Given the description of an element on the screen output the (x, y) to click on. 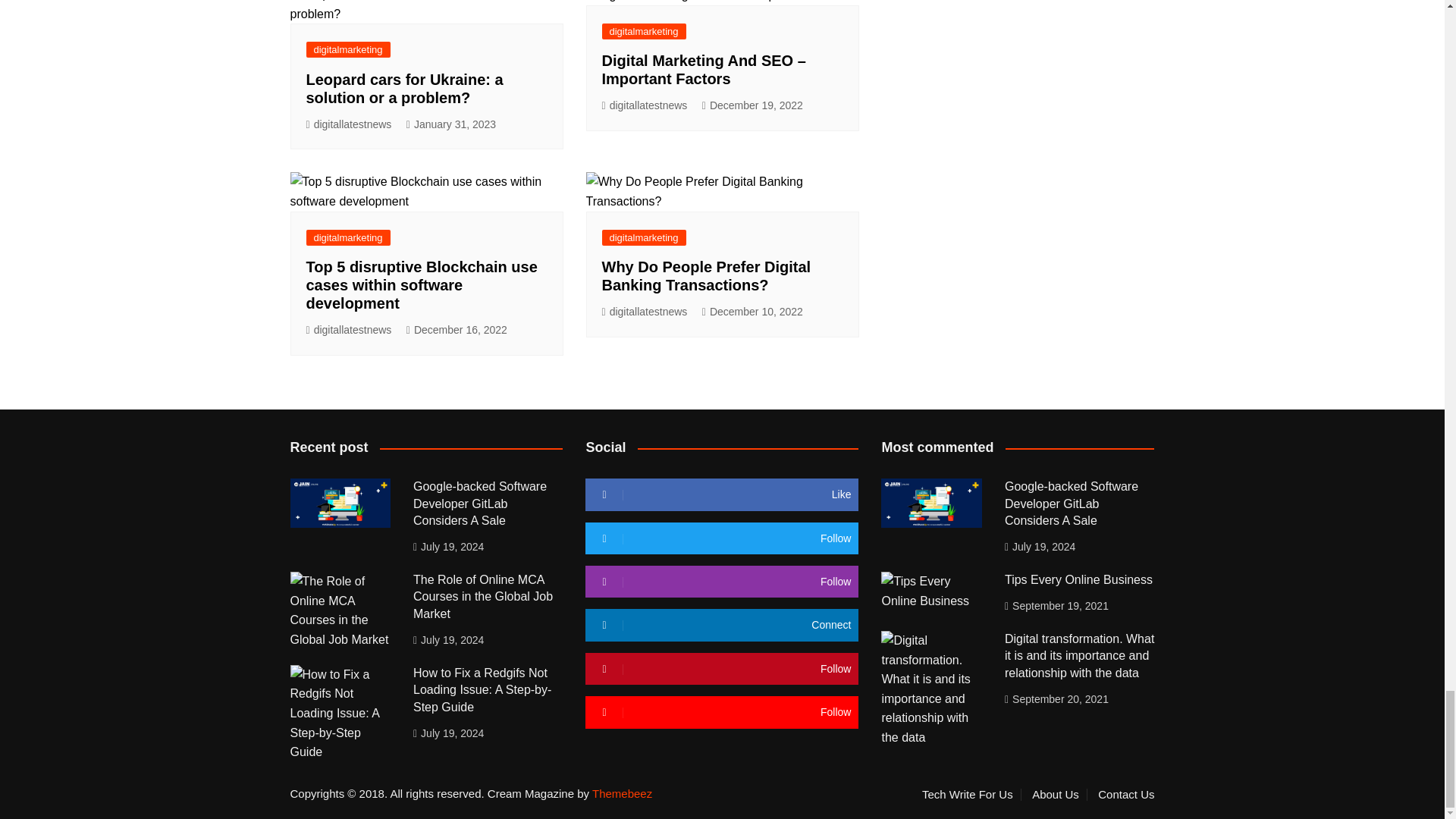
January 31, 2023 (451, 124)
Leopard cars for Ukraine: a solution or a problem? (404, 88)
digitallatestnews (348, 124)
digitalmarketing (347, 49)
